Given the description of an element on the screen output the (x, y) to click on. 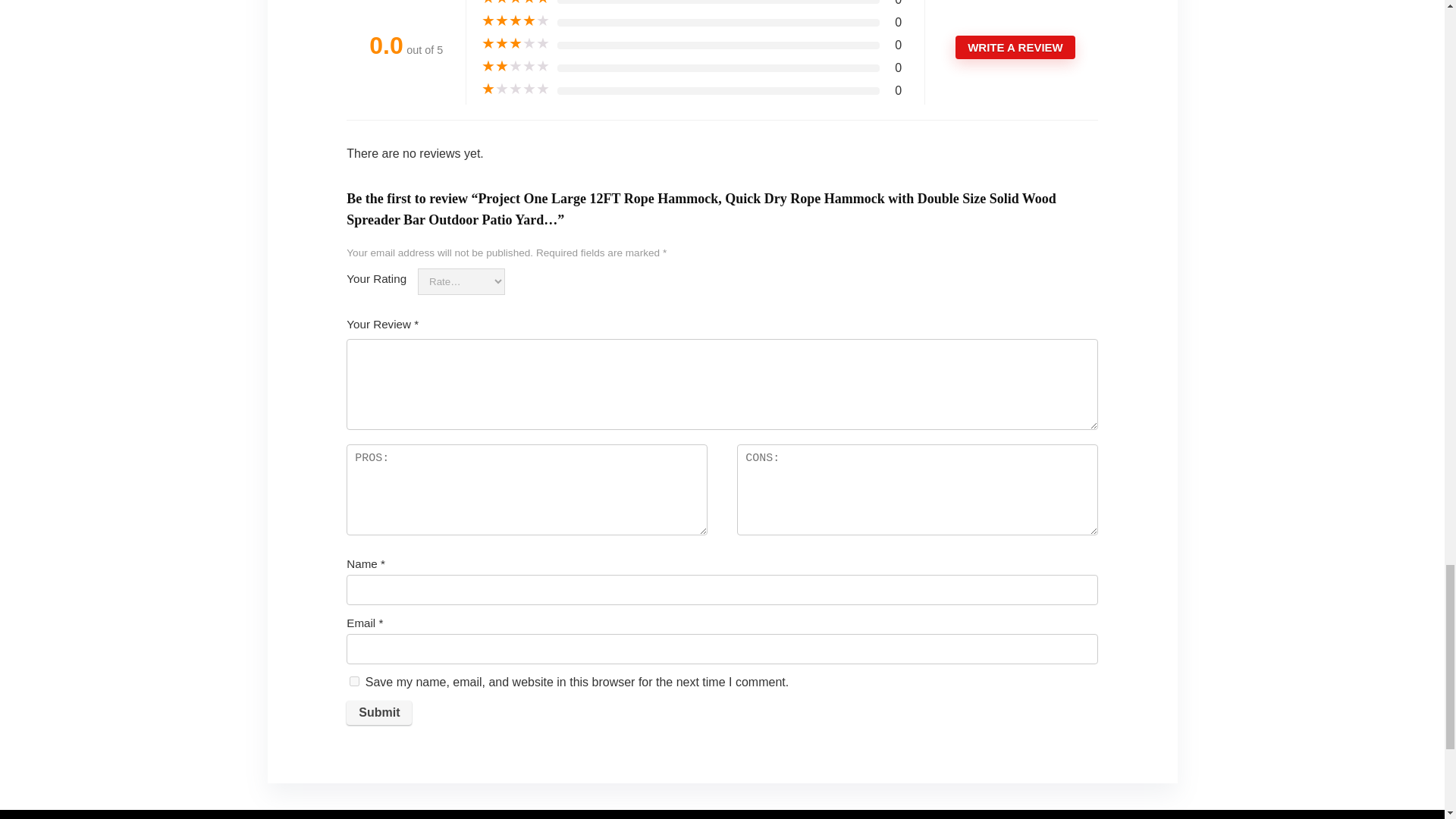
Rated 5 out of 5 (515, 2)
Submit (379, 712)
Rated 2 out of 5 (515, 66)
Rated 4 out of 5 (515, 20)
WRITE A REVIEW (1015, 47)
yes (354, 681)
Rated 1 out of 5 (515, 89)
Rated 3 out of 5 (515, 43)
